Given the description of an element on the screen output the (x, y) to click on. 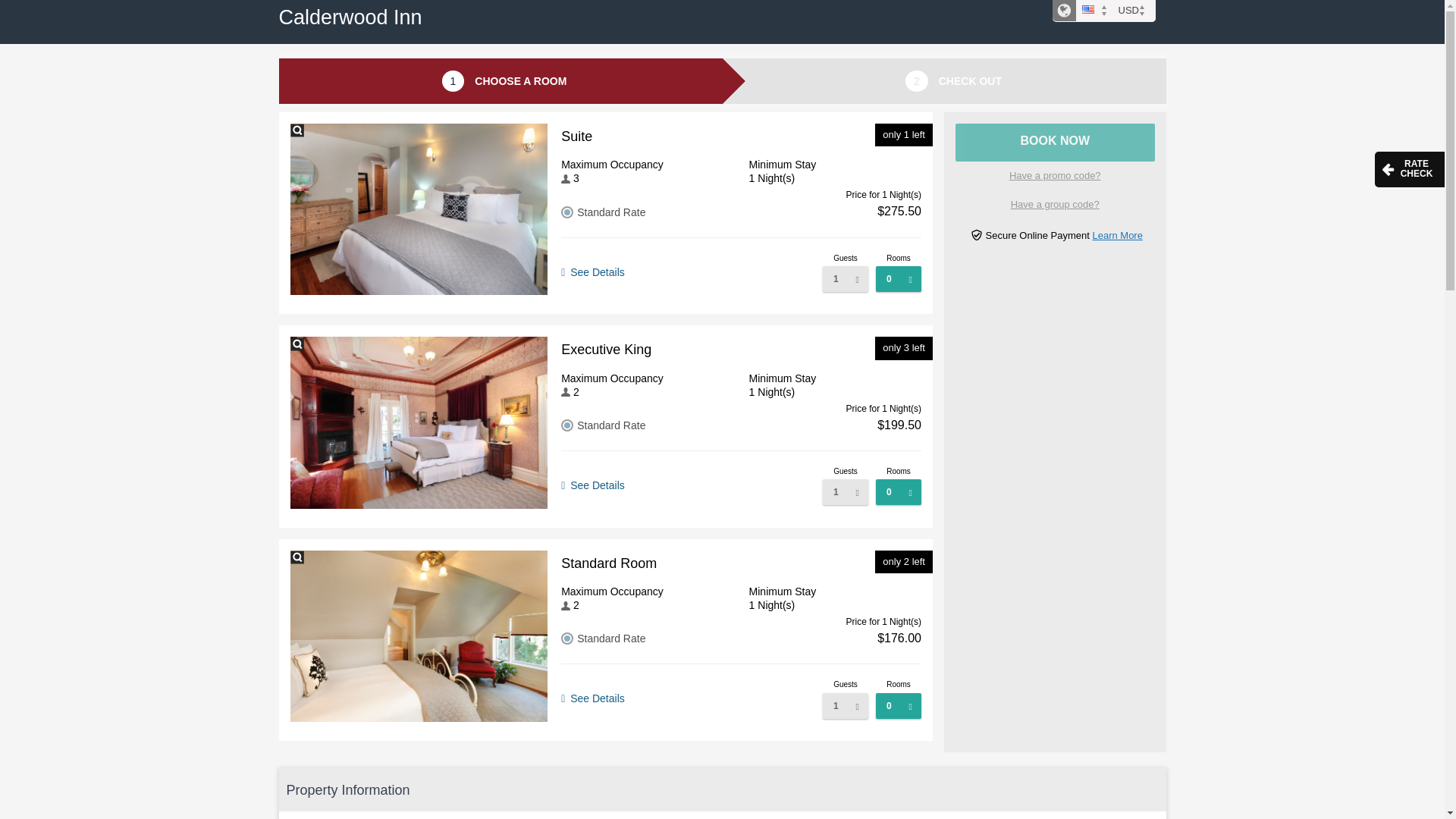
1 (844, 278)
1 (844, 492)
1 (844, 705)
0 (898, 492)
0 (898, 278)
0 (898, 705)
